Given the description of an element on the screen output the (x, y) to click on. 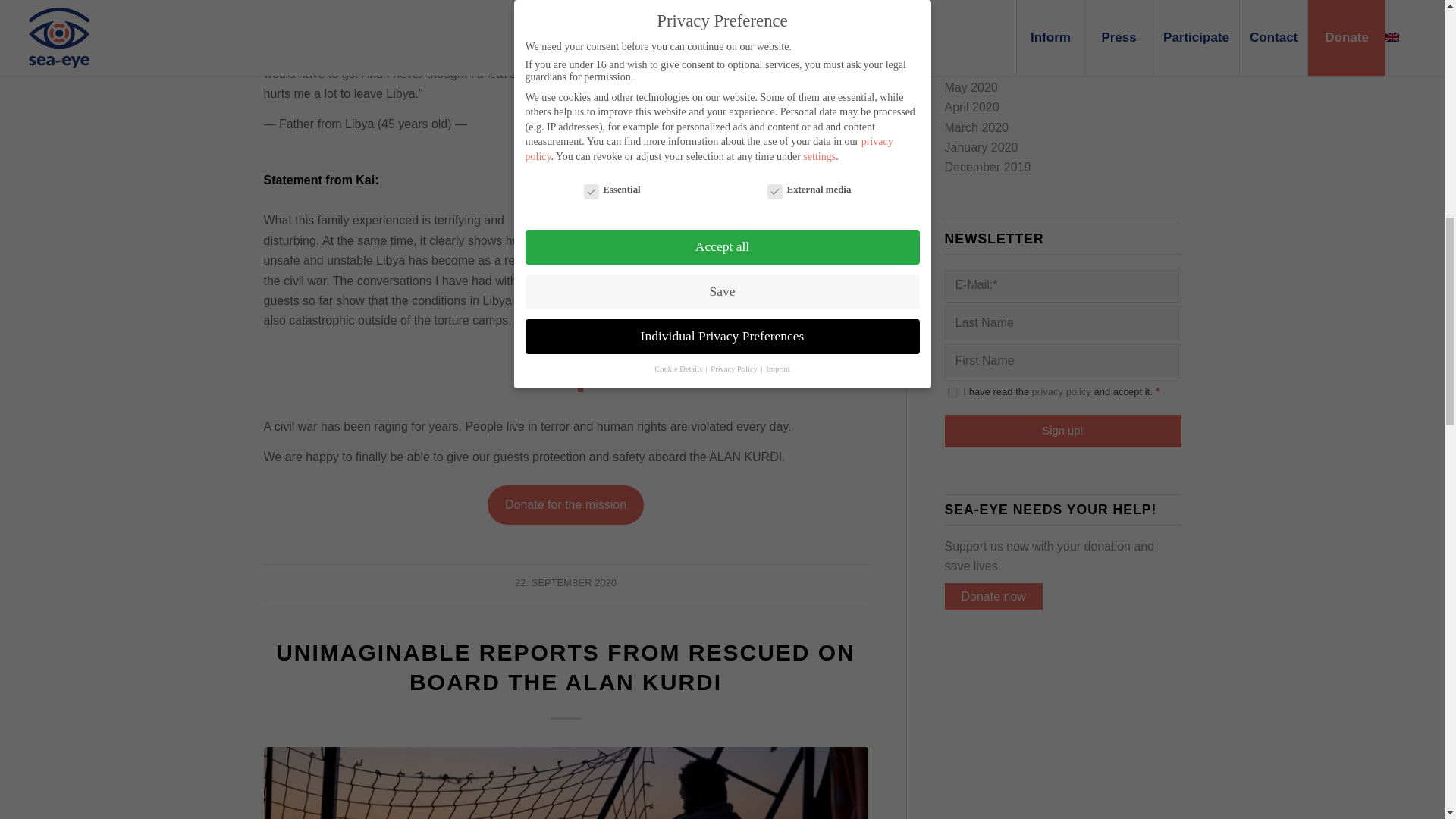
Refugee aboard ALAN KURDI (565, 782)
true (952, 392)
Donate for the mission (566, 504)
Sign up! (1062, 430)
UNIMAGINABLE REPORTS FROM RESCUED ON BOARD THE ALAN KURDI (566, 666)
